Given the description of an element on the screen output the (x, y) to click on. 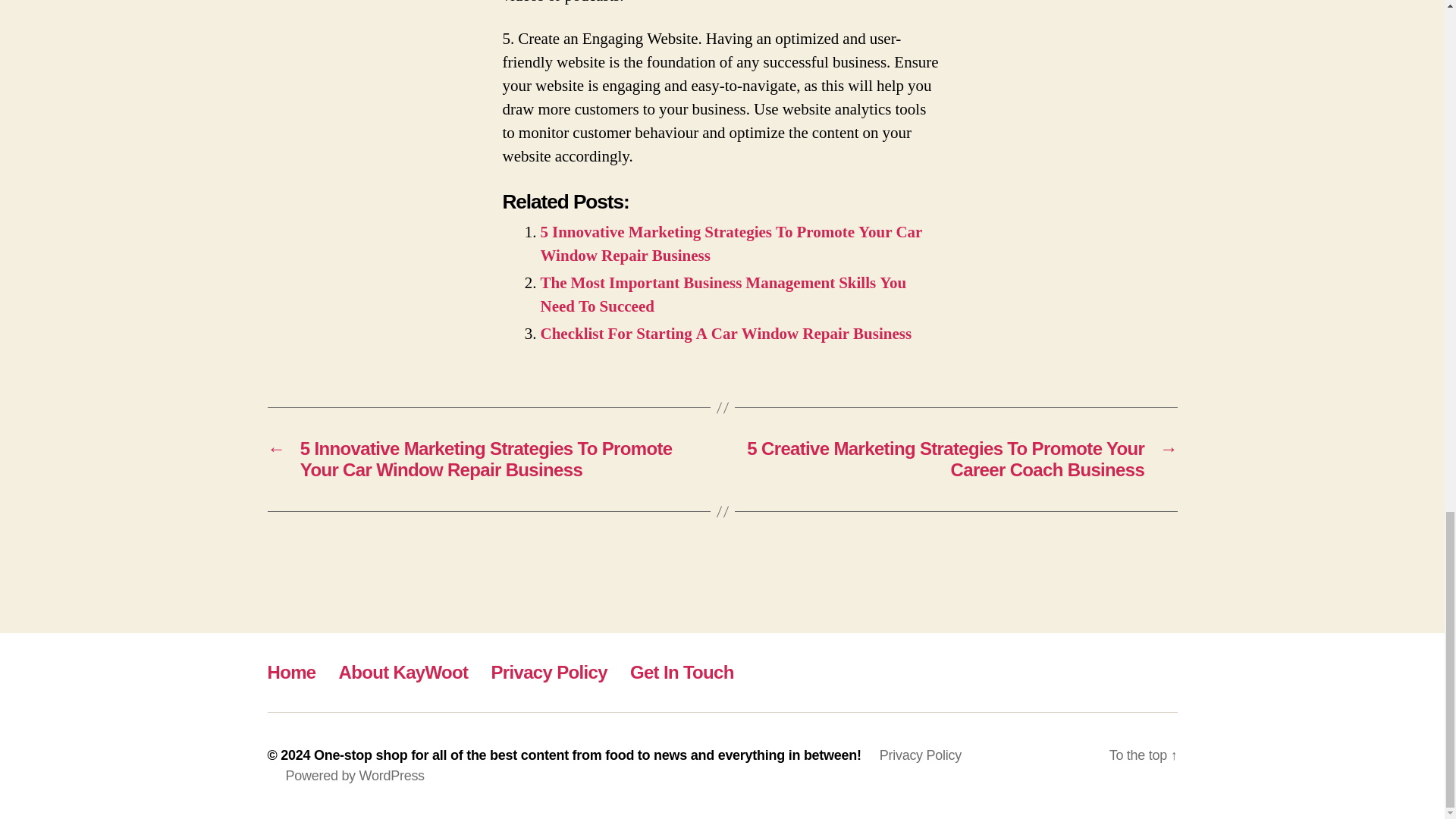
Checklist For Starting A Car Window Repair Business (725, 333)
